Given the description of an element on the screen output the (x, y) to click on. 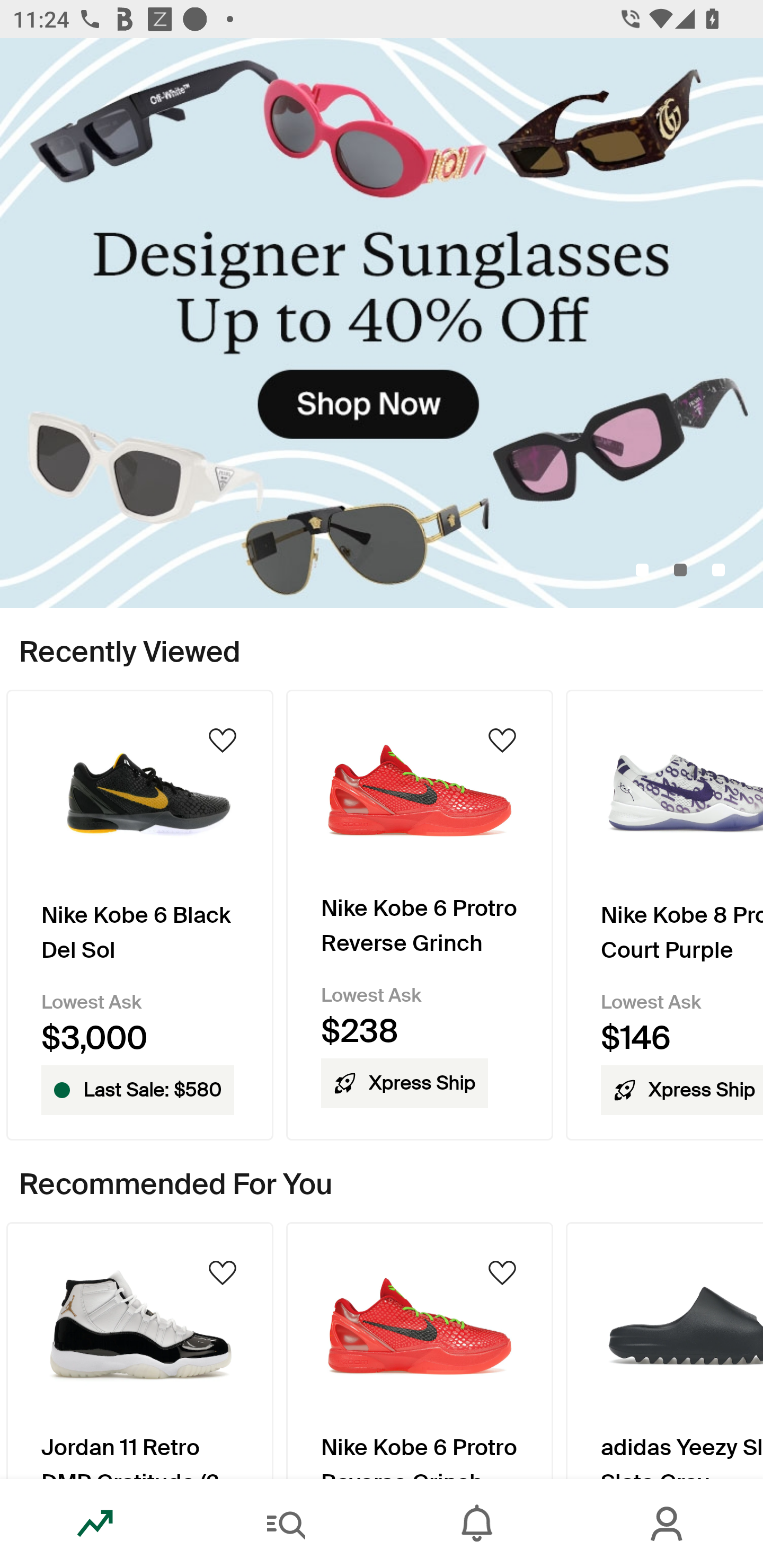
DesignerSunglassesUpto40_Off_Primary_Mobile.jpg (381, 322)
Product Image Jordan 11 Retro DMP Gratitude (2023) (139, 1349)
Product Image Nike Kobe 6 Protro Reverse Grinch (419, 1349)
Product Image adidas Yeezy Slide Slate Grey (664, 1349)
Search (285, 1523)
Inbox (476, 1523)
Account (667, 1523)
